Given the description of an element on the screen output the (x, y) to click on. 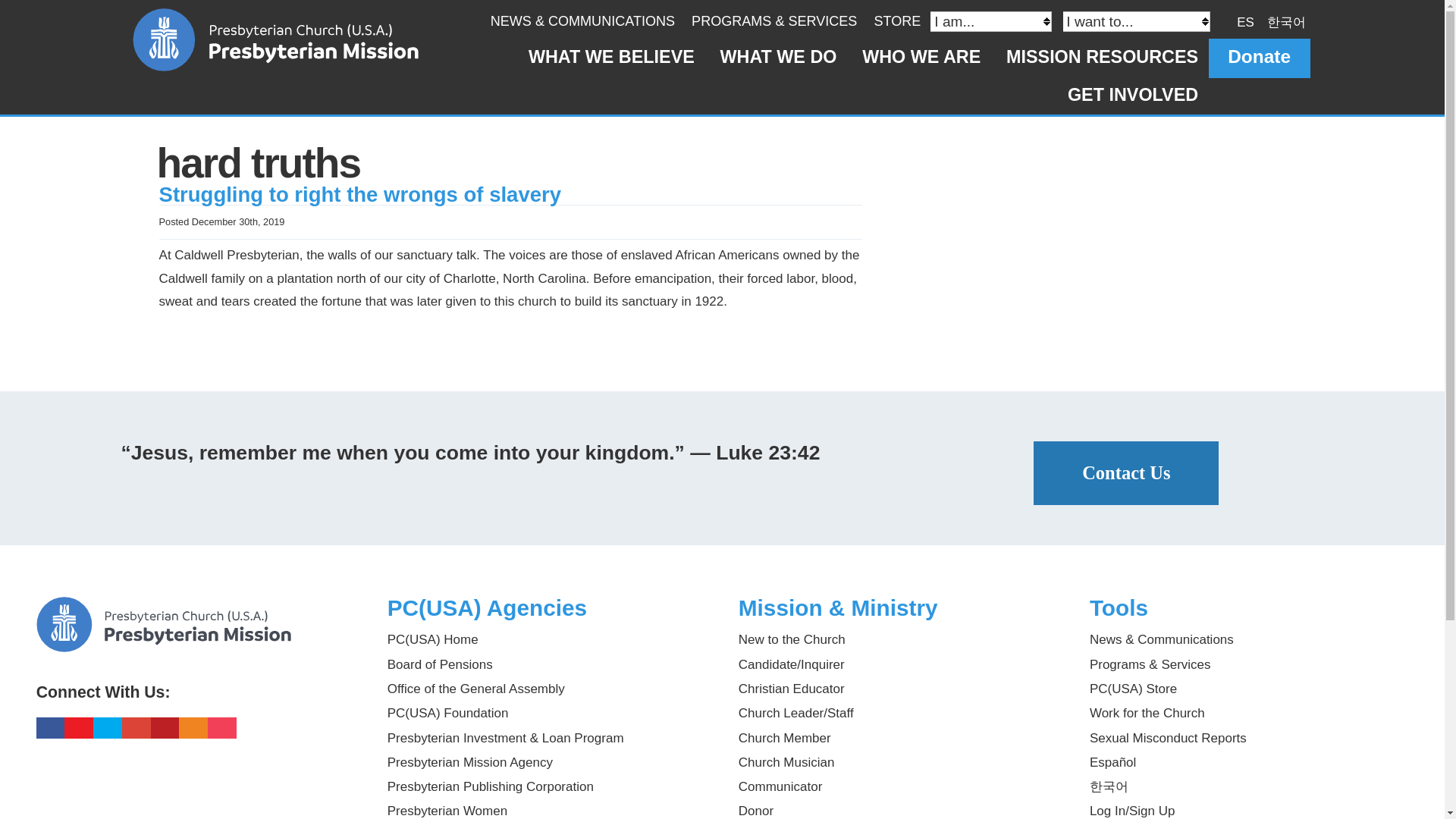
Follow Us on Social Media (195, 685)
ES (1245, 22)
STORE (896, 20)
Struggling to right the wrongs of slavery (359, 194)
